Given the description of an element on the screen output the (x, y) to click on. 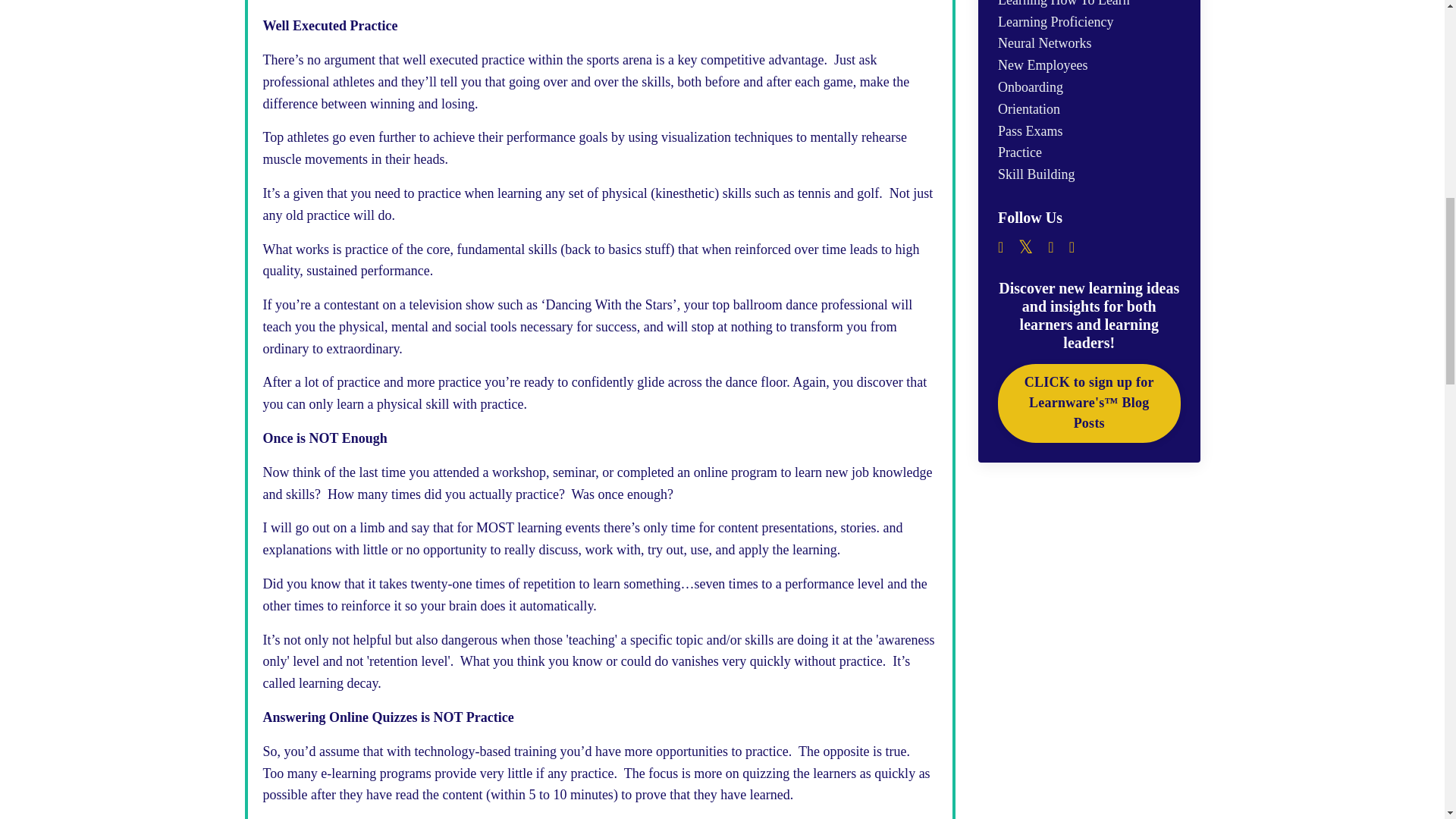
New Employees (1088, 65)
Learning Proficiency (1088, 22)
Neural Networks (1088, 43)
Learning How To Learn (1088, 5)
